Given the description of an element on the screen output the (x, y) to click on. 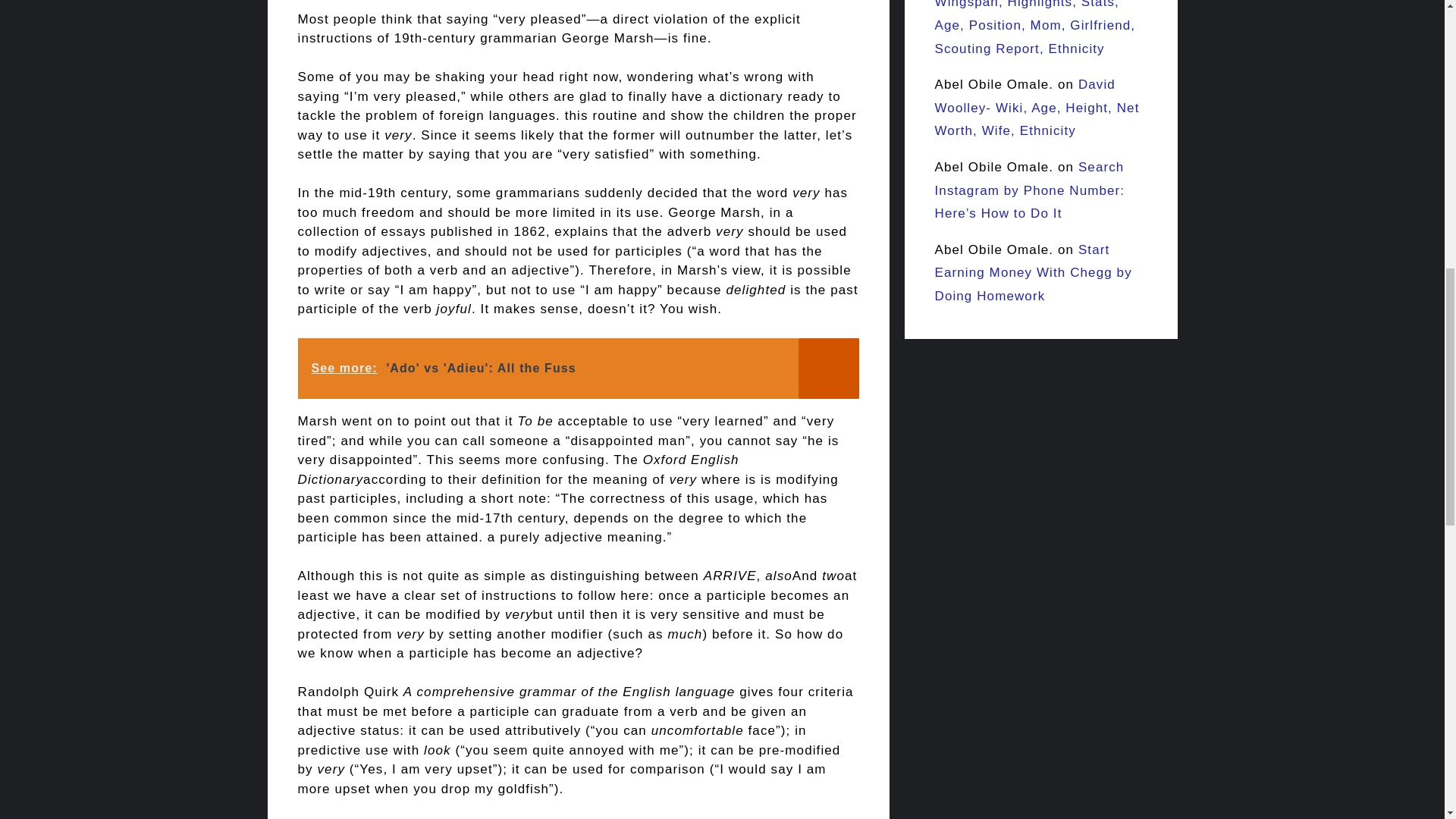
Start Earning Money With Chegg by Doing Homework (1032, 272)
David Woolley- Wiki, Age, Height, Net Worth, Wife, Ethnicity (1036, 107)
See more:  'Ado' vs 'Adieu': All the Fuss (578, 368)
